Given the description of an element on the screen output the (x, y) to click on. 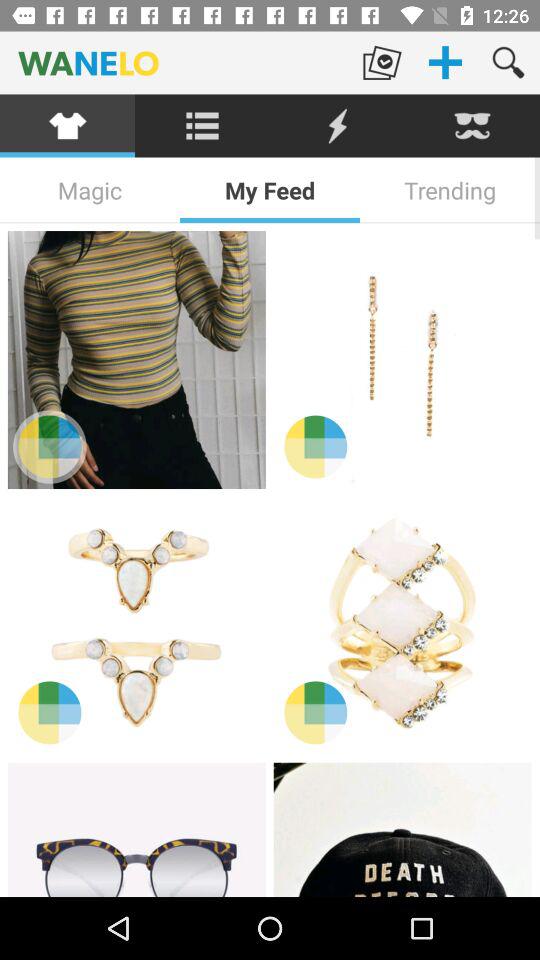
clothing option (67, 125)
